Given the description of an element on the screen output the (x, y) to click on. 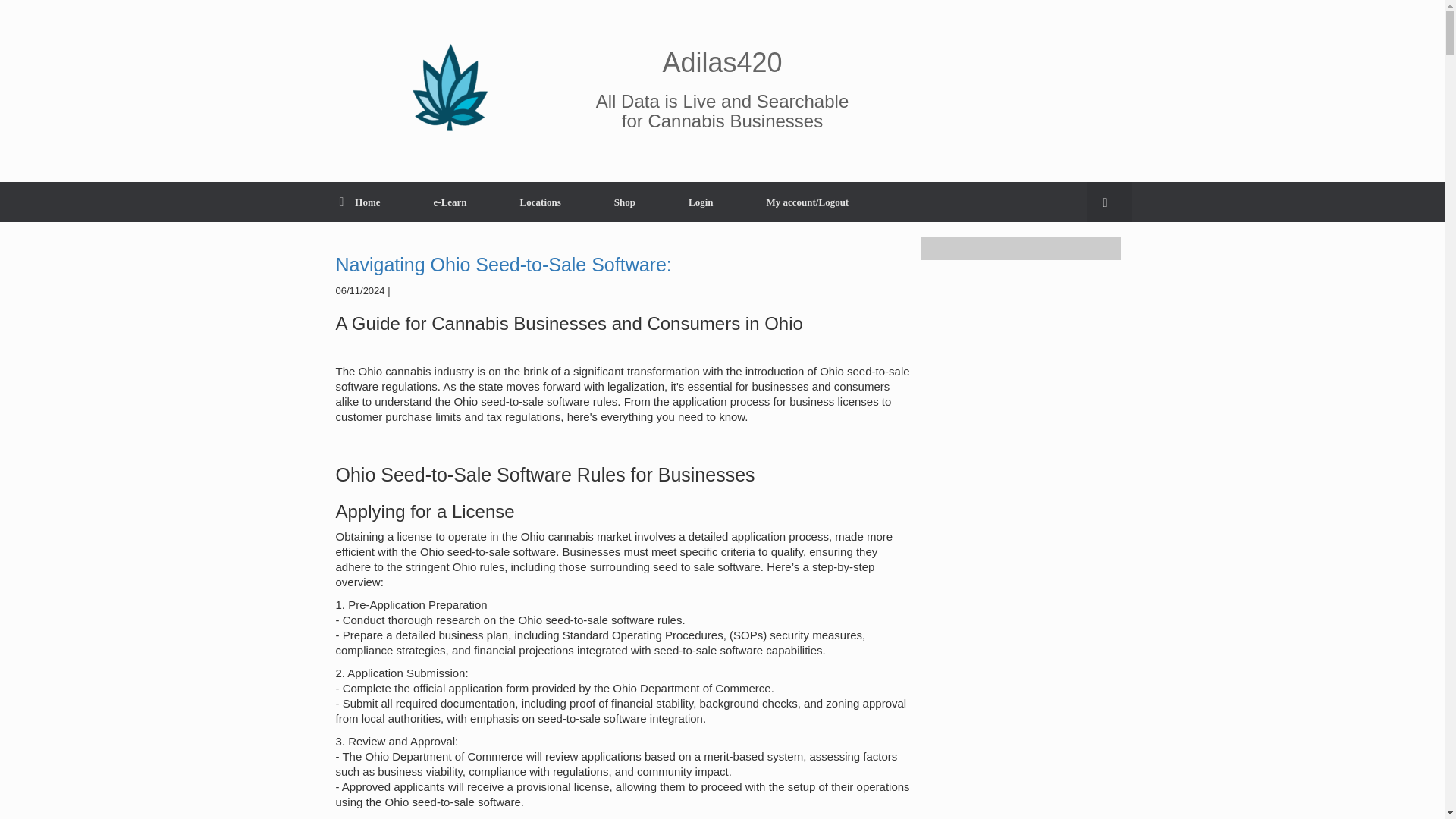
e-Learn (450, 201)
Navigating Ohio Seed-to-Sale Software: (502, 264)
Locations (540, 201)
Home (359, 201)
Login (700, 201)
Shop (625, 201)
Navigating Ohio Seed-to-Sale Software: (502, 264)
